Given the description of an element on the screen output the (x, y) to click on. 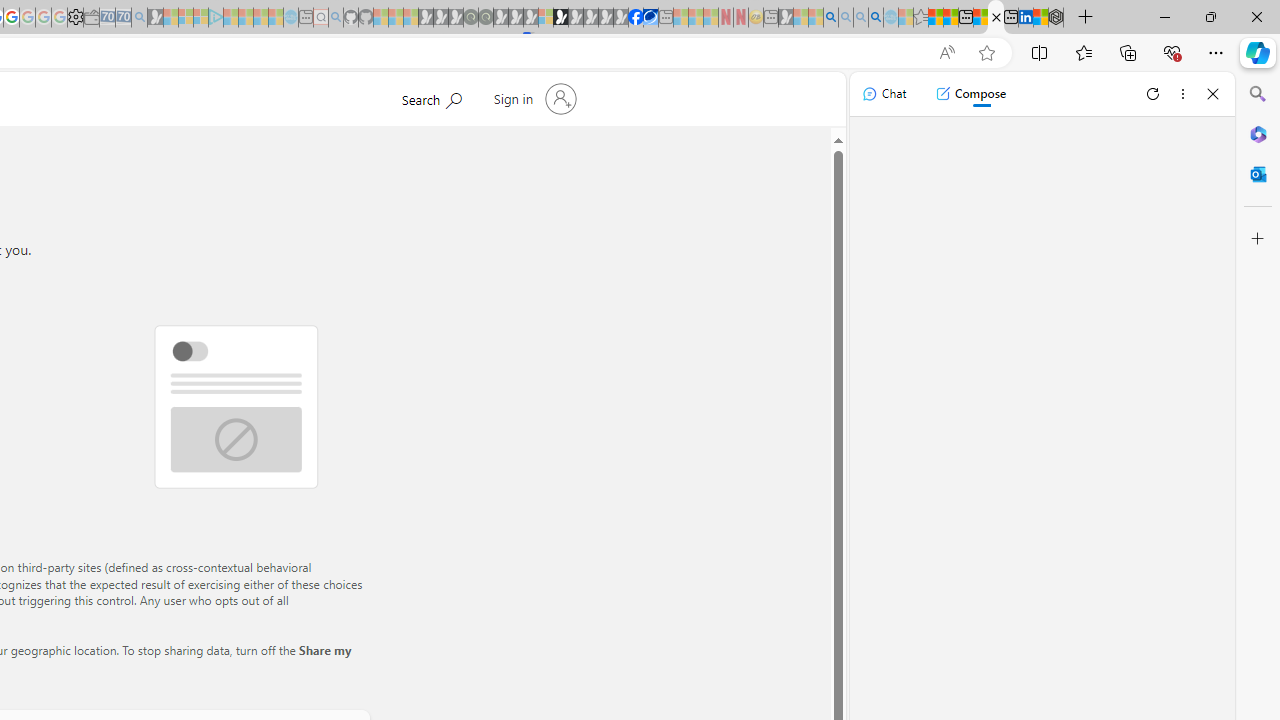
LinkedIn (1025, 17)
